Given the description of an element on the screen output the (x, y) to click on. 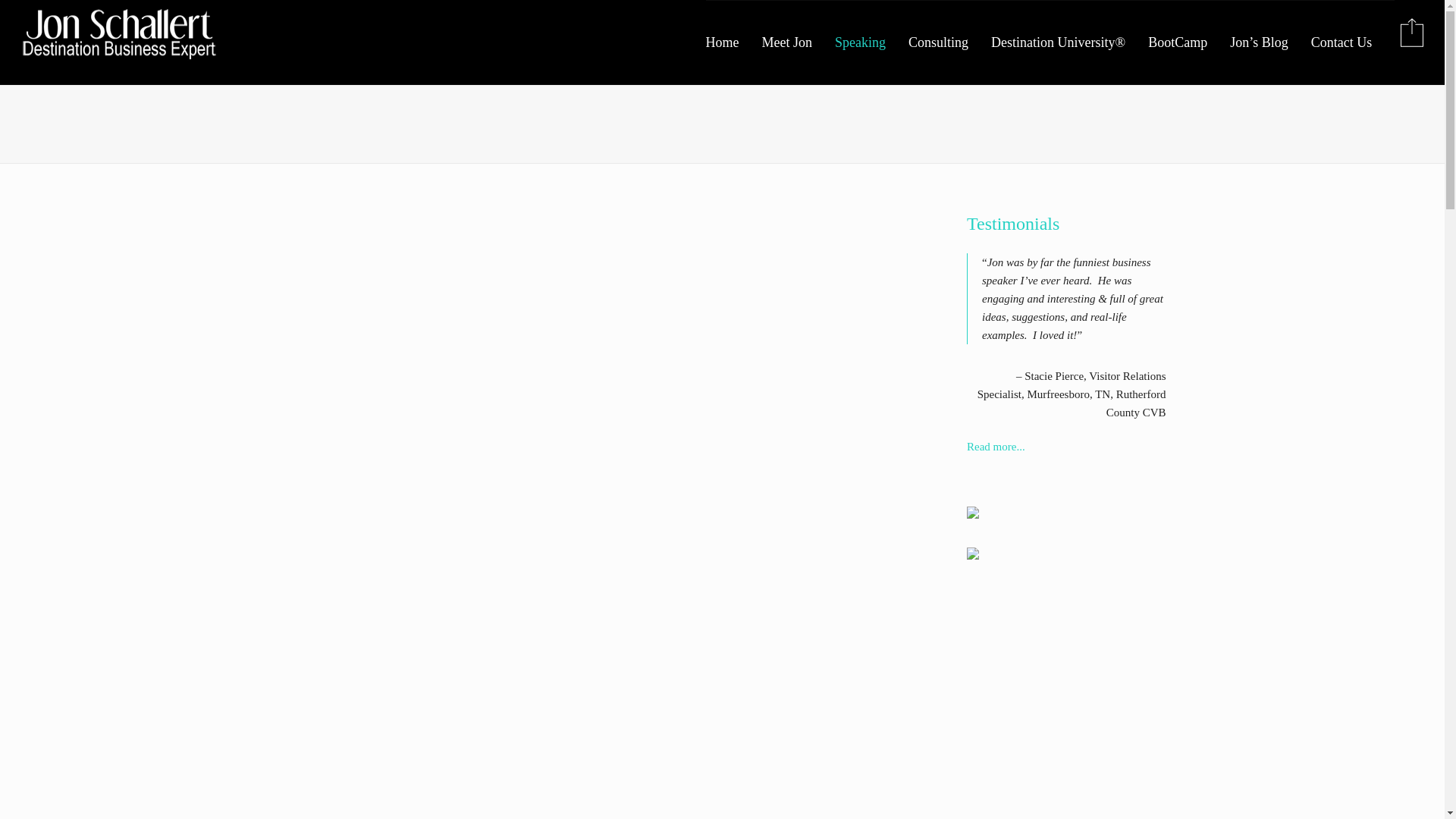
Speaking (871, 42)
Jon Schallert (119, 33)
Contact Us (1352, 42)
BootCamp (1189, 42)
Meet Jon (798, 42)
Consulting (949, 42)
